Given the description of an element on the screen output the (x, y) to click on. 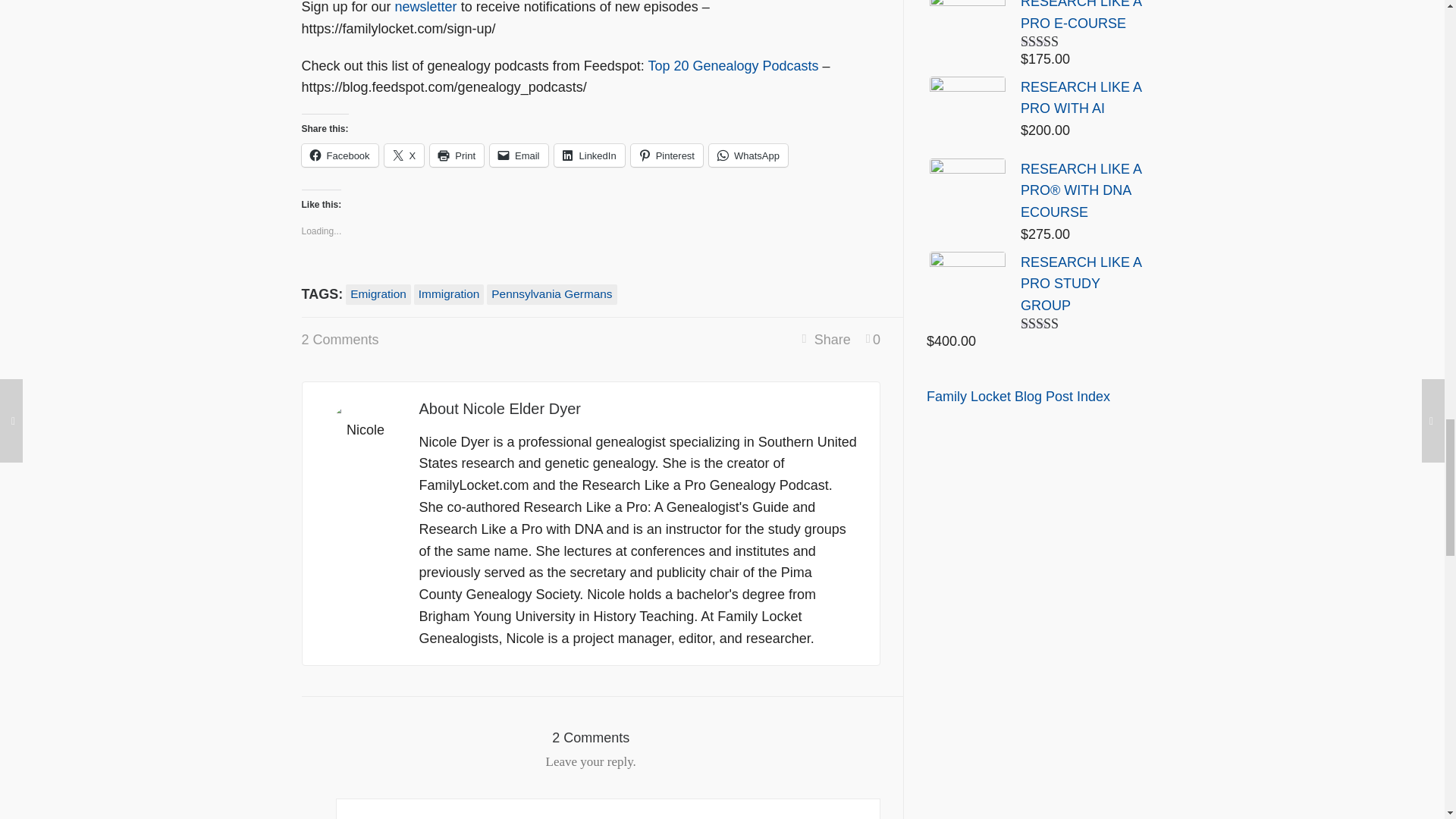
Click to share on LinkedIn (589, 155)
Click to print (456, 155)
2 Comments (339, 340)
Click to email a link to a friend (518, 155)
Click to share on WhatsApp (748, 155)
Click to share on Facebook (339, 155)
Click to share on X (404, 155)
Click to share on Pinterest (666, 155)
